Given the description of an element on the screen output the (x, y) to click on. 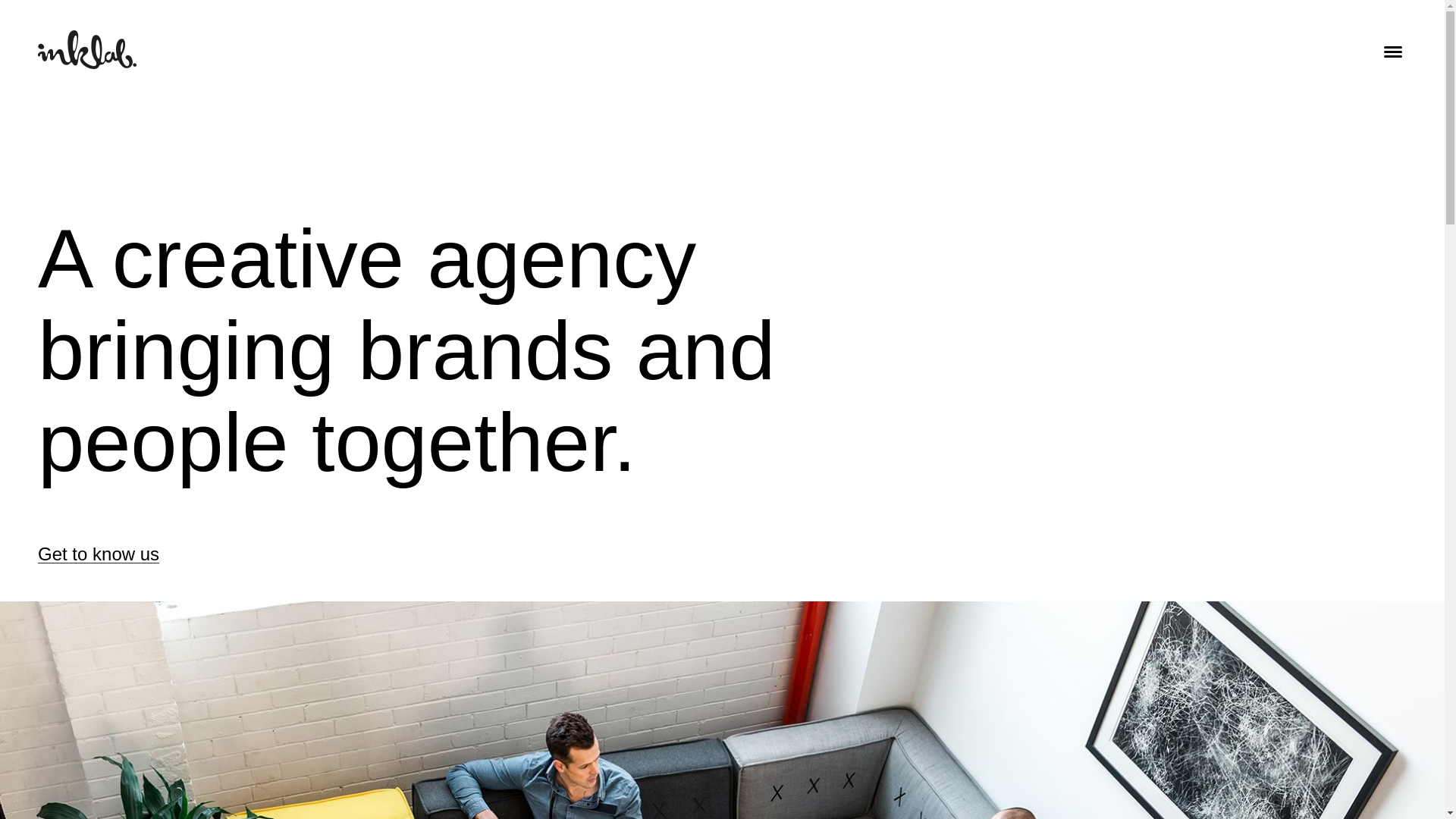
Get to know us Element type: text (98, 554)
